Given the description of an element on the screen output the (x, y) to click on. 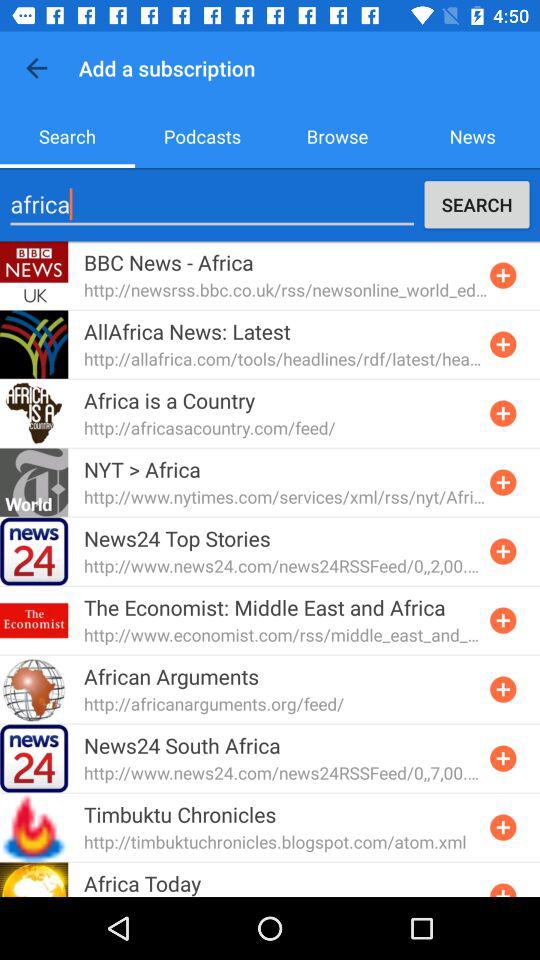
tap the africa today item (142, 882)
